Given the description of an element on the screen output the (x, y) to click on. 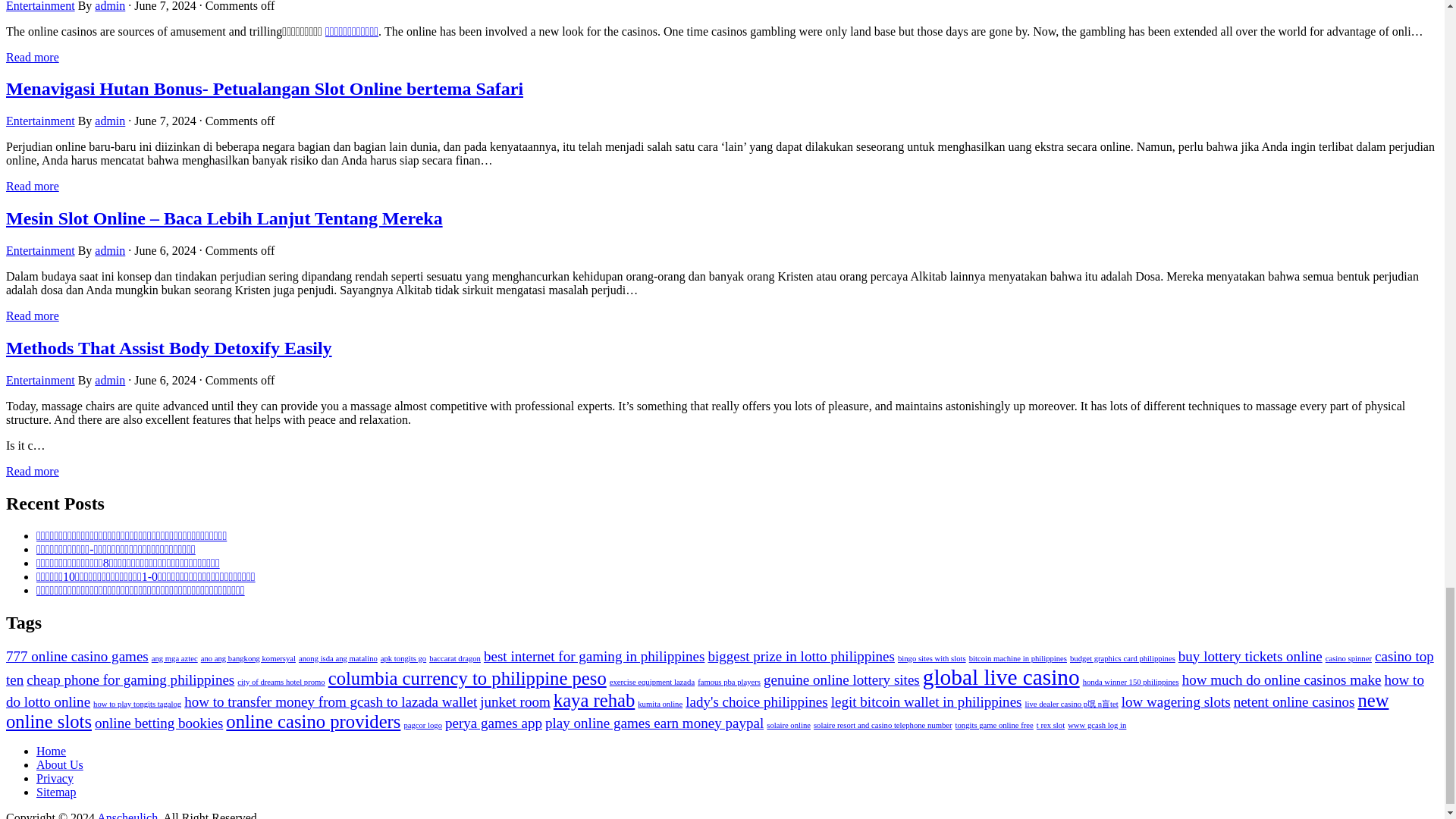
Posts by admin (109, 6)
Posts by admin (109, 120)
Posts by admin (109, 250)
Posts by admin (109, 379)
